Given the description of an element on the screen output the (x, y) to click on. 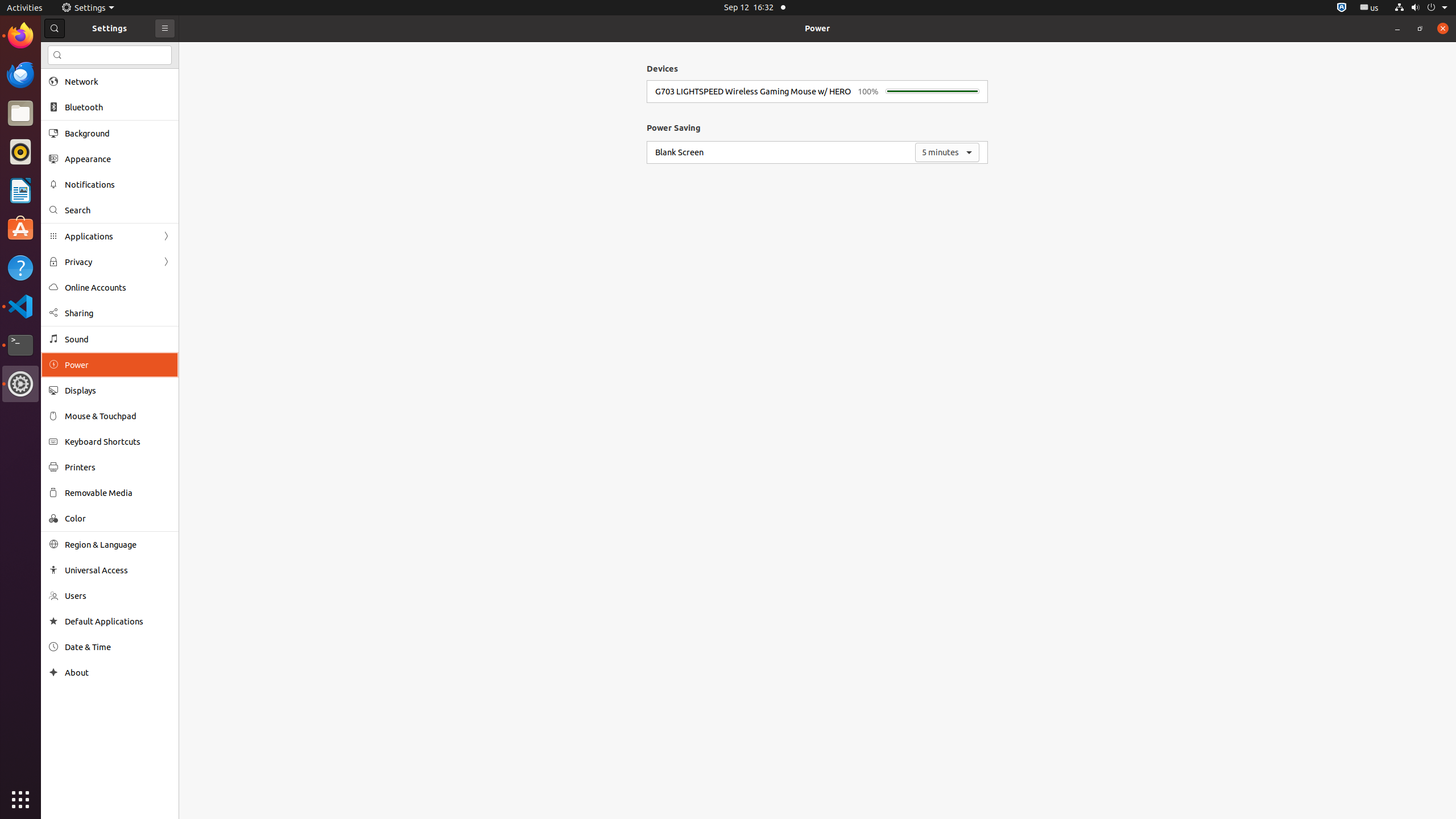
Search Element type: text (109, 54)
Settings Element type: push-button (20, 383)
Printers Element type: label (117, 467)
Settings Element type: menu (87, 7)
Universal Access Element type: label (117, 570)
